Given the description of an element on the screen output the (x, y) to click on. 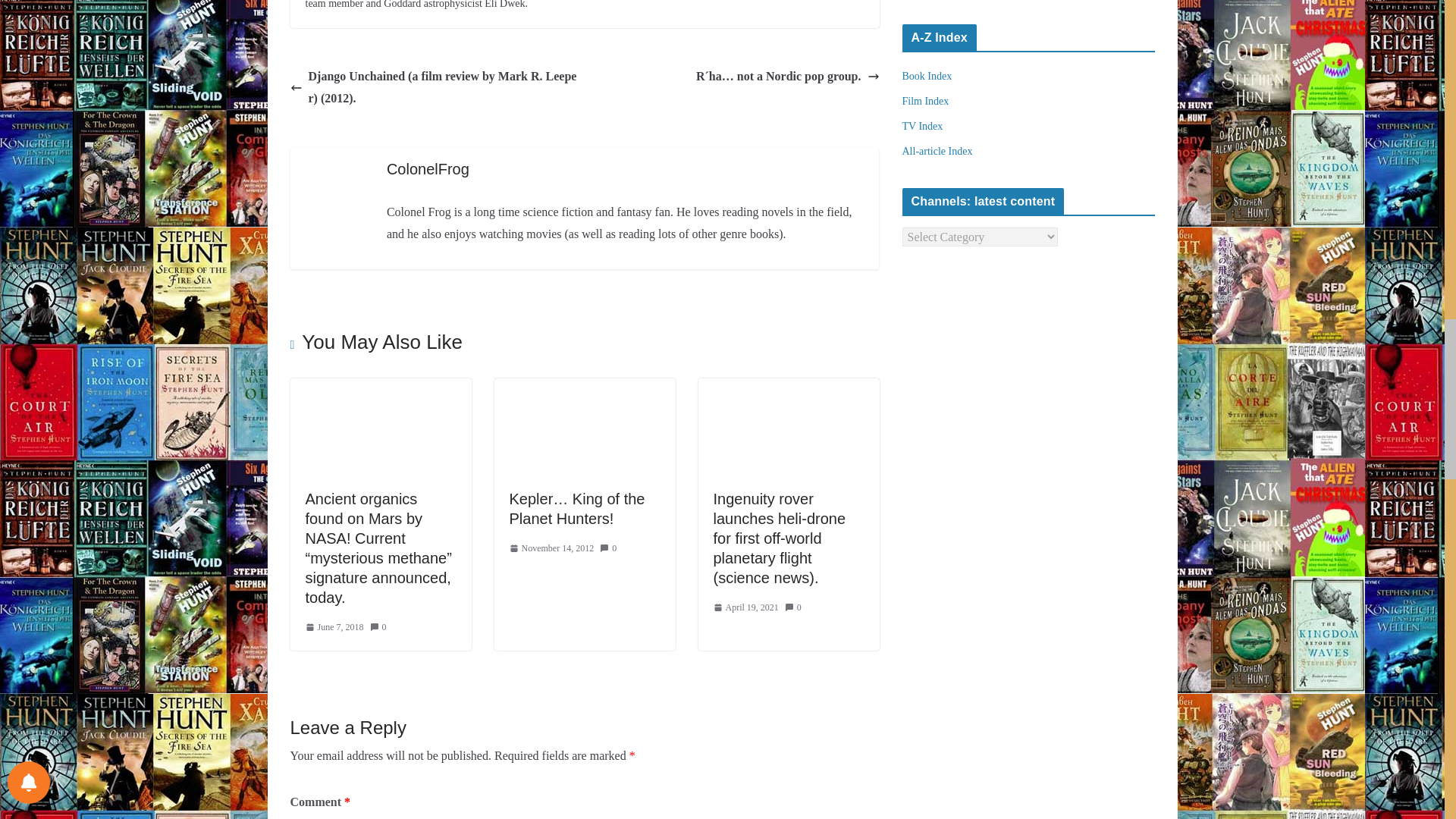
10:32 pm (551, 548)
June 7, 2018 (333, 627)
8:00 pm (333, 627)
